Given the description of an element on the screen output the (x, y) to click on. 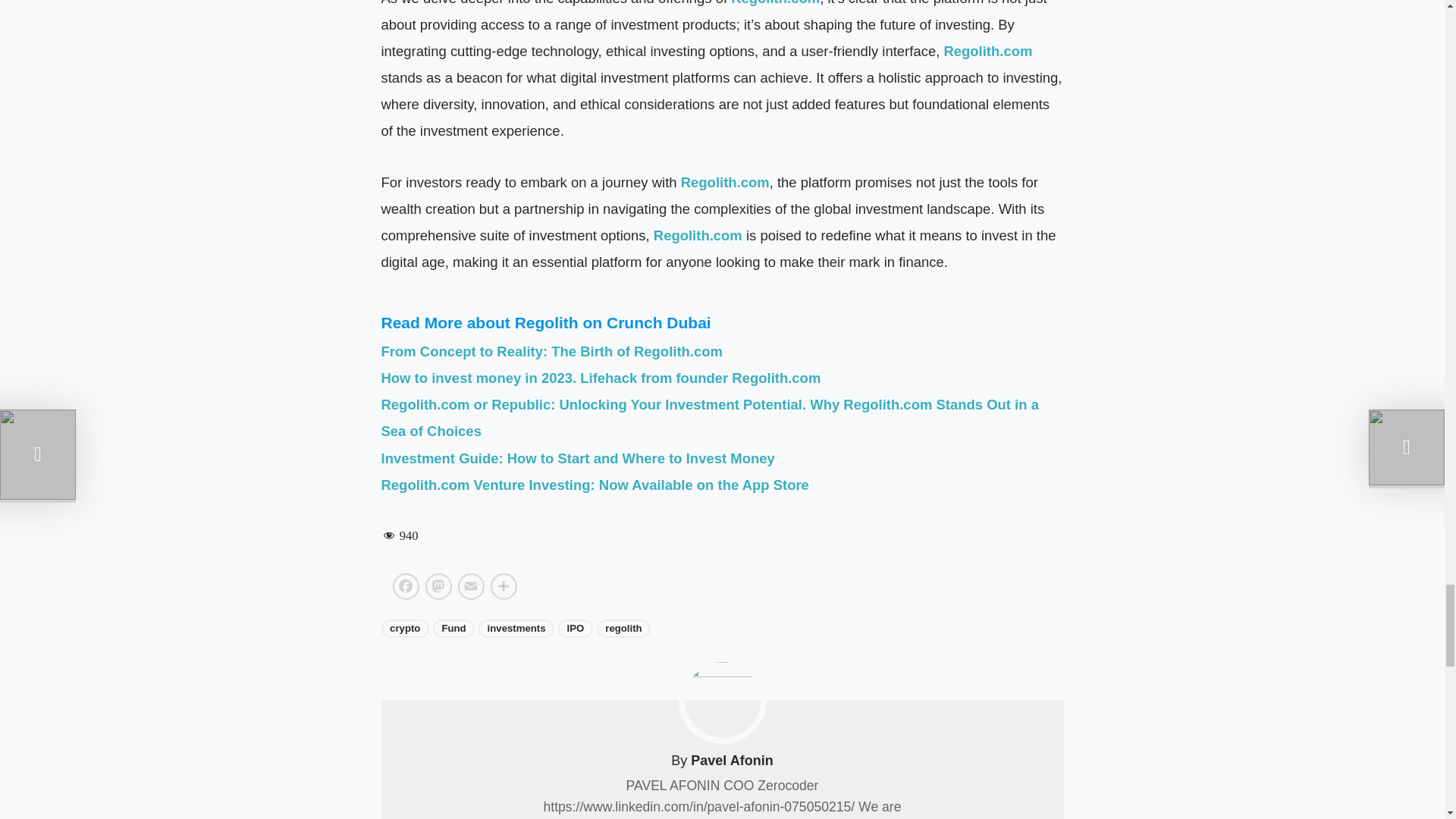
Regolith.com (697, 235)
From Concept to Reality: The Birth of Regolith.com (551, 351)
Regolith.com (725, 182)
Regolith.com (774, 2)
Regolith.com (987, 50)
